Given the description of an element on the screen output the (x, y) to click on. 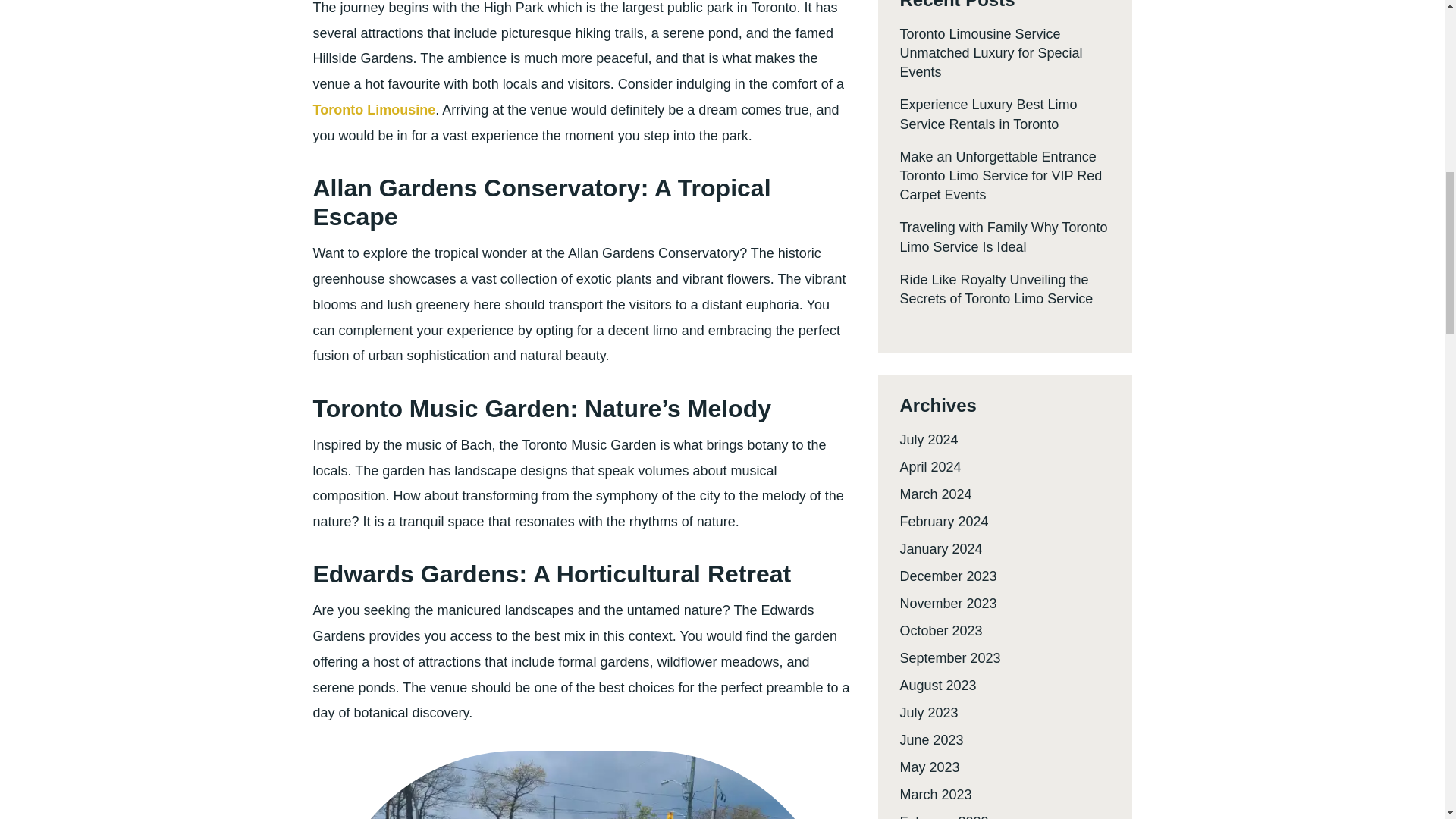
Toronto Limousine (374, 109)
Experience Luxury Best Limo Service Rentals in Toronto (988, 114)
Traveling with Family Why Toronto Limo Service Is Ideal (1002, 236)
